Given the description of an element on the screen output the (x, y) to click on. 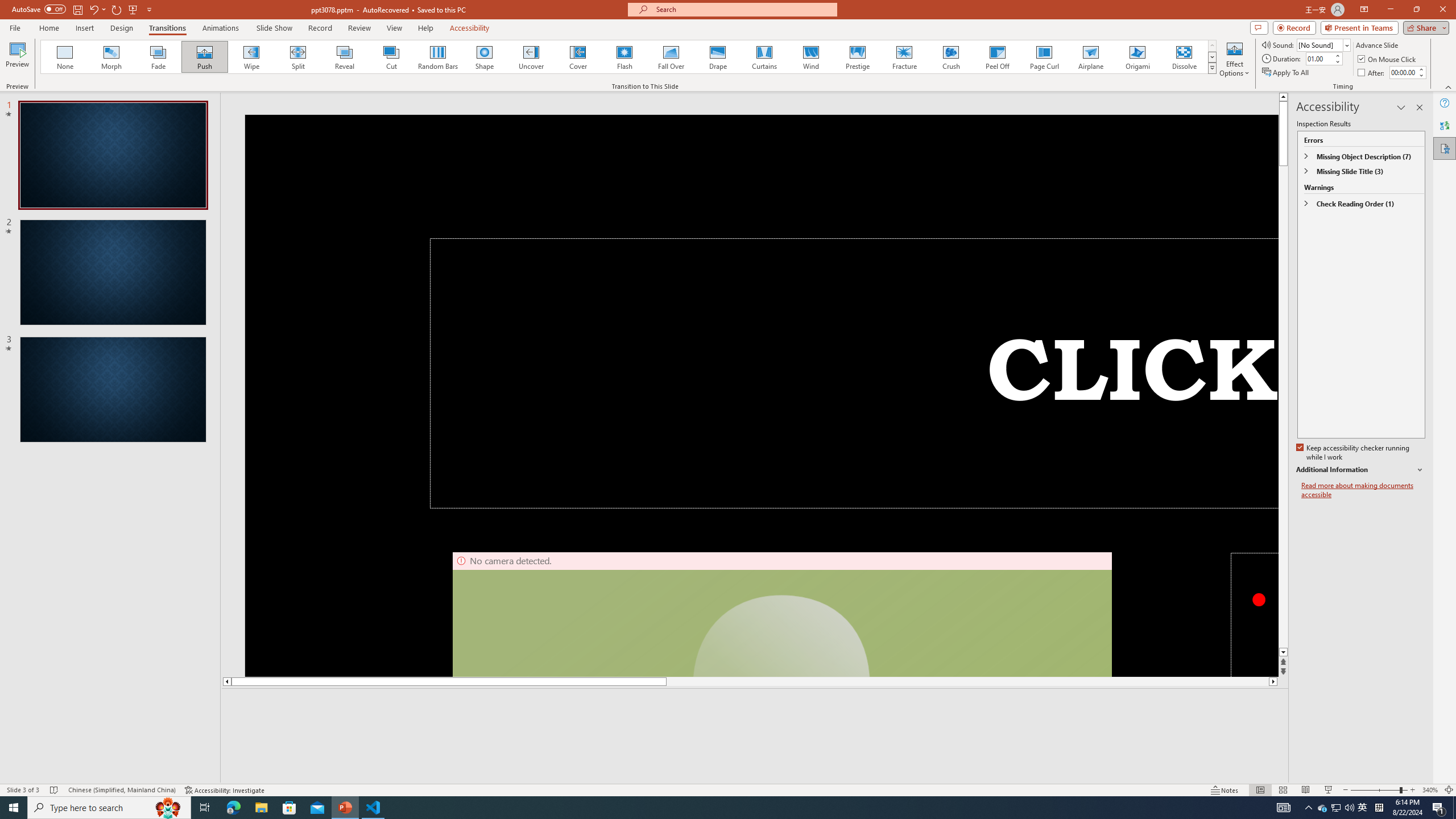
Airplane (1090, 56)
Microsoft search (742, 9)
Preview (17, 58)
Accessibility Checker Accessibility: Investigate (224, 790)
Reveal (344, 56)
Translator (1444, 125)
Cover (577, 56)
Slide Notes (755, 705)
Task Pane Options (1400, 107)
